Given the description of an element on the screen output the (x, y) to click on. 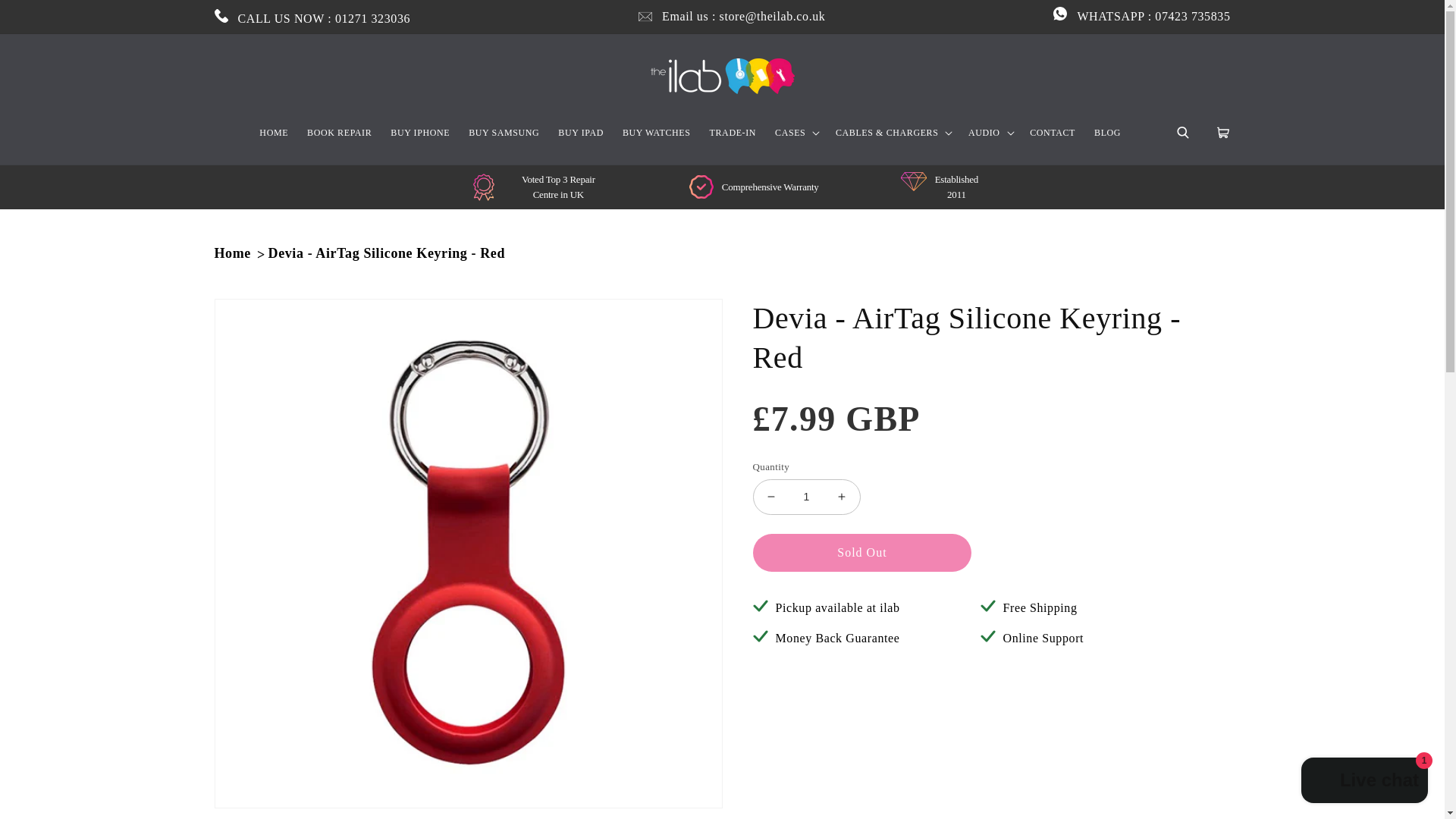
CALL US NOW : 01271 323036 (312, 17)
Skip to content (45, 17)
WHATSAPP : 07423 735835 (1141, 16)
Shopify online store chat (1364, 781)
1 (807, 496)
